Given the description of an element on the screen output the (x, y) to click on. 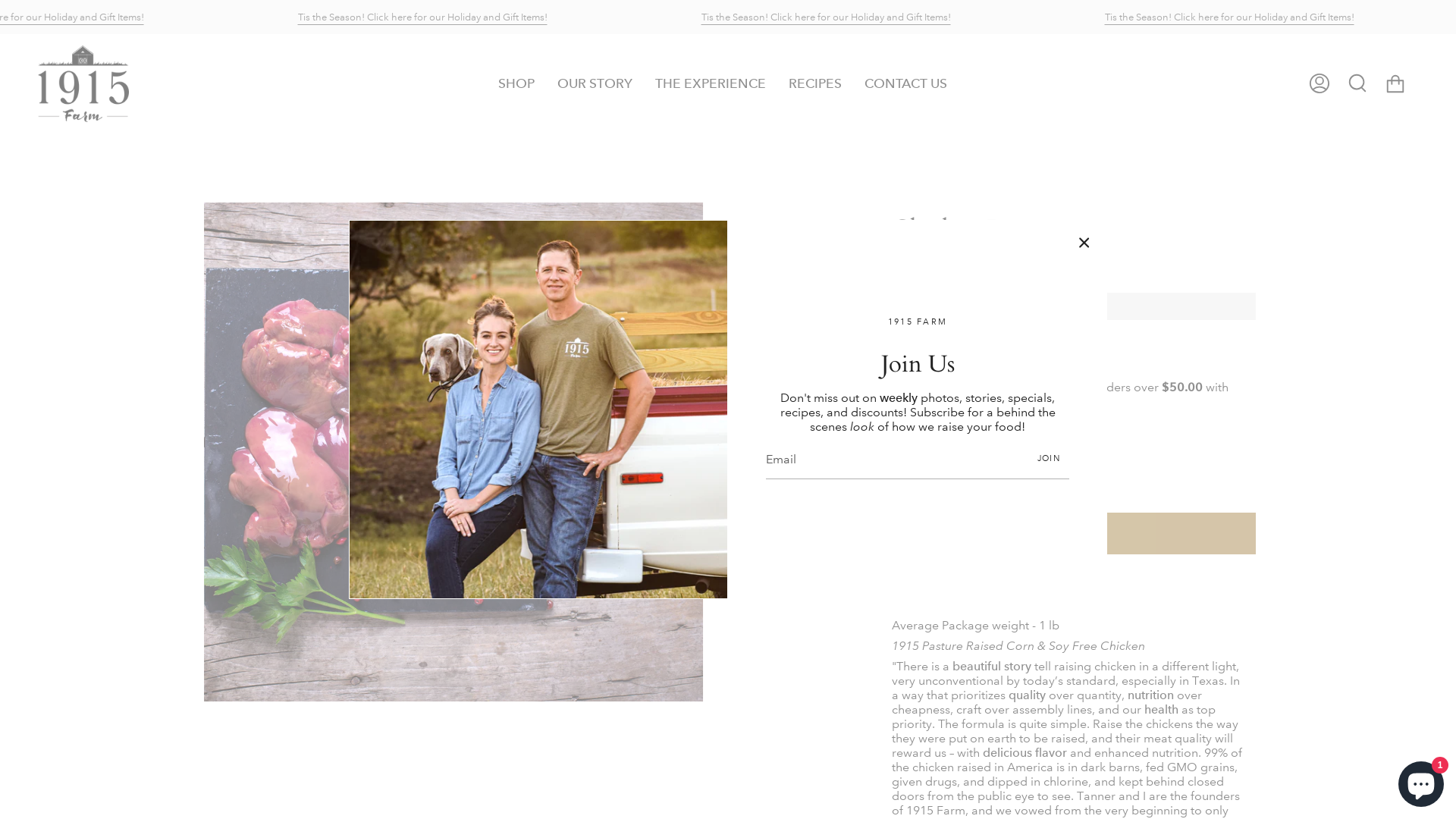
SHOP Element type: text (516, 83)
Tis the Season! Click here for our Holiday and Gift Items! Element type: text (181, 16)
Search Element type: text (1357, 83)
RECIPES Element type: text (814, 83)
JOIN Element type: text (1048, 458)
CONTACT US Element type: text (904, 83)
Account Element type: text (1319, 83)
1 Element type: text (936, 459)
THE EXPERIENCE Element type: text (709, 83)
Tis the Season! Click here for our Holiday and Gift Items! Element type: text (986, 16)
Tis the Season! Click here for our Holiday and Gift Items! Element type: text (584, 16)
Subscription details Element type: text (963, 360)
Add to cart Element type: text (1073, 533)
Shopify online store chat Element type: hover (1420, 780)
OUR STORY Element type: text (594, 83)
Close Element type: hover (1084, 242)
Cart Element type: text (1395, 83)
